Given the description of an element on the screen output the (x, y) to click on. 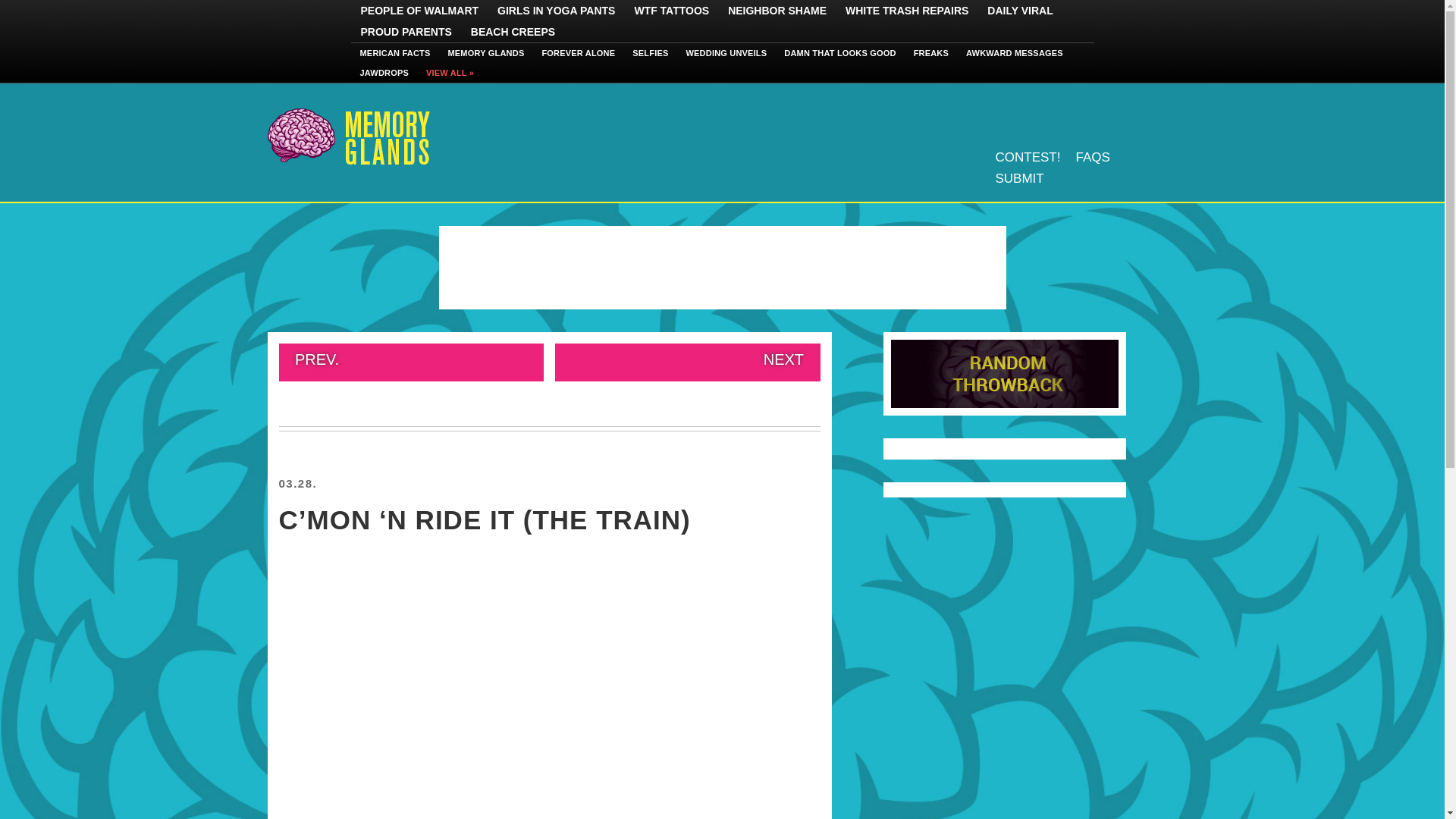
DAILY VIRAL (1019, 10)
Memory Glands (347, 136)
WEDDING UNVEILS (726, 52)
WTF TATTOOS (671, 10)
MEMORY GLANDS (485, 52)
FOREVER ALONE (577, 52)
AWKWARD MESSAGES (1014, 52)
NEIGHBOR SHAME (777, 10)
BEACH CREEPS (512, 31)
NEXT (687, 362)
